Given the description of an element on the screen output the (x, y) to click on. 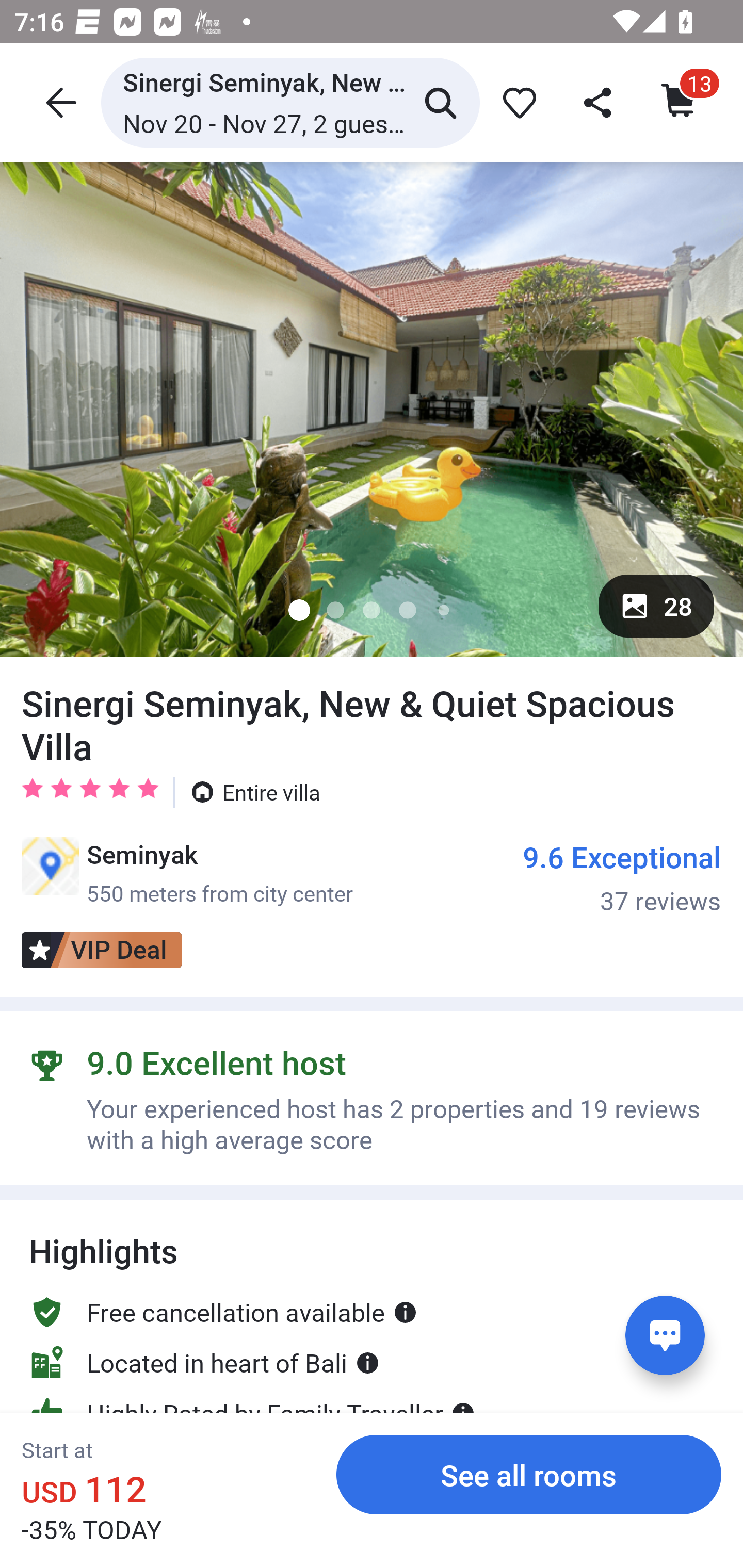
header icon (59, 102)
favorite_icon 0dbe6efb (515, 102)
share_header_icon (598, 102)
Cart icon cart_item_count 13 (679, 102)
image (371, 408)
28 (656, 605)
Seminyak 550 meters from city center (186, 872)
9.6 Exceptional 37 reviews (621, 877)
Free cancellation available (222, 1311)
See all rooms (528, 1474)
